Given the description of an element on the screen output the (x, y) to click on. 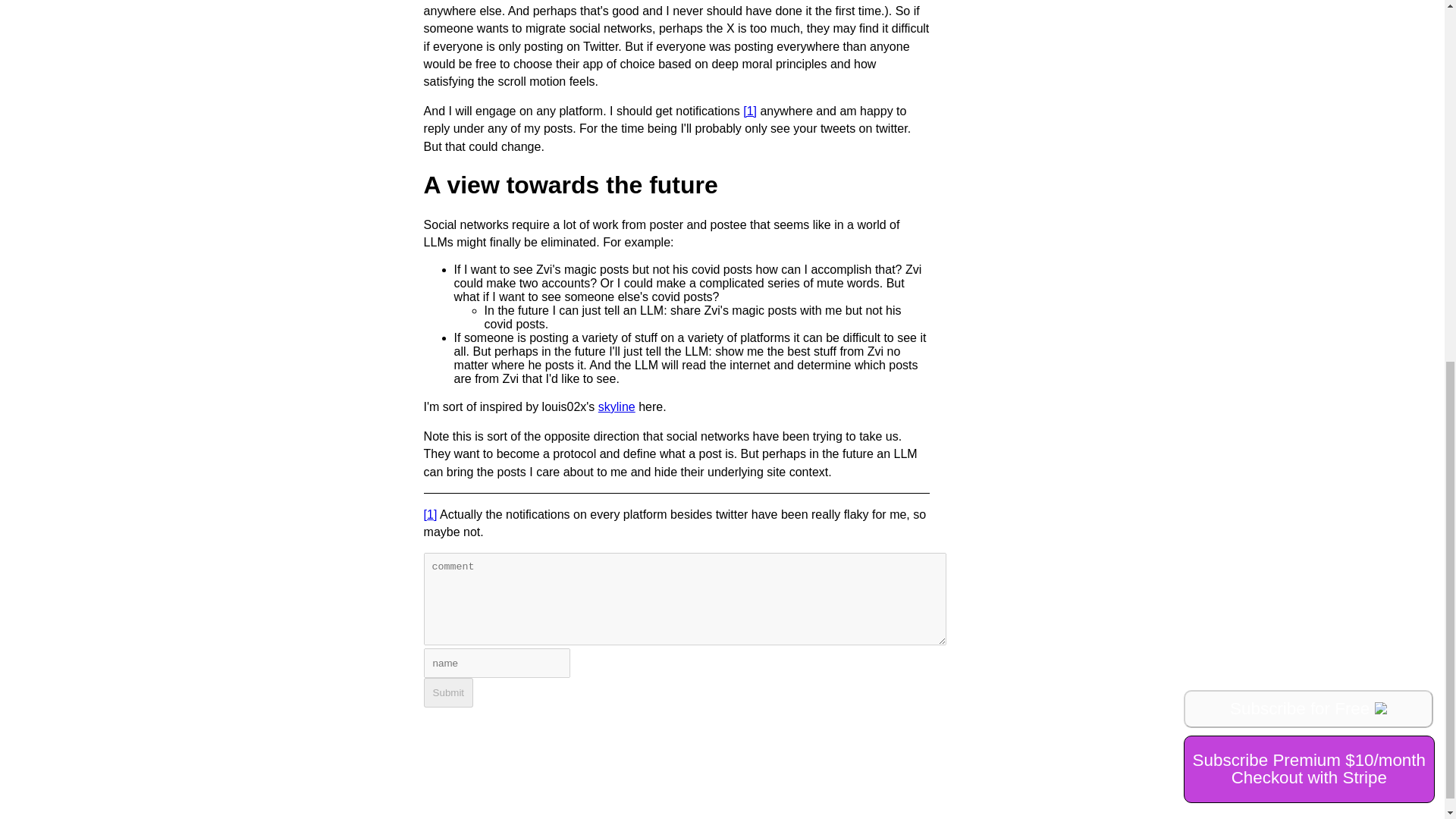
Submit (448, 692)
skyline (616, 406)
